Given the description of an element on the screen output the (x, y) to click on. 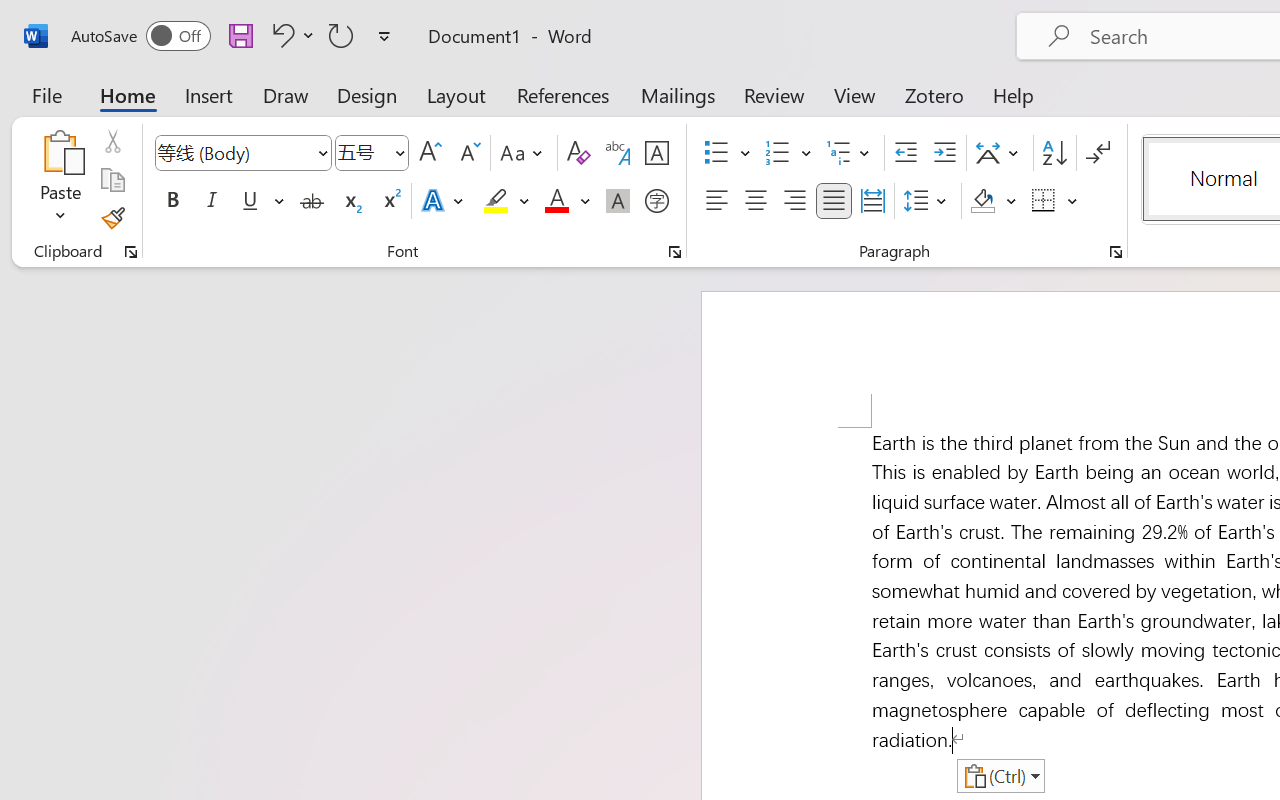
Paragraph... (1115, 252)
Asian Layout (1000, 153)
Font Color (567, 201)
Decrease Indent (906, 153)
Justify (834, 201)
Bold (172, 201)
